Given the description of an element on the screen output the (x, y) to click on. 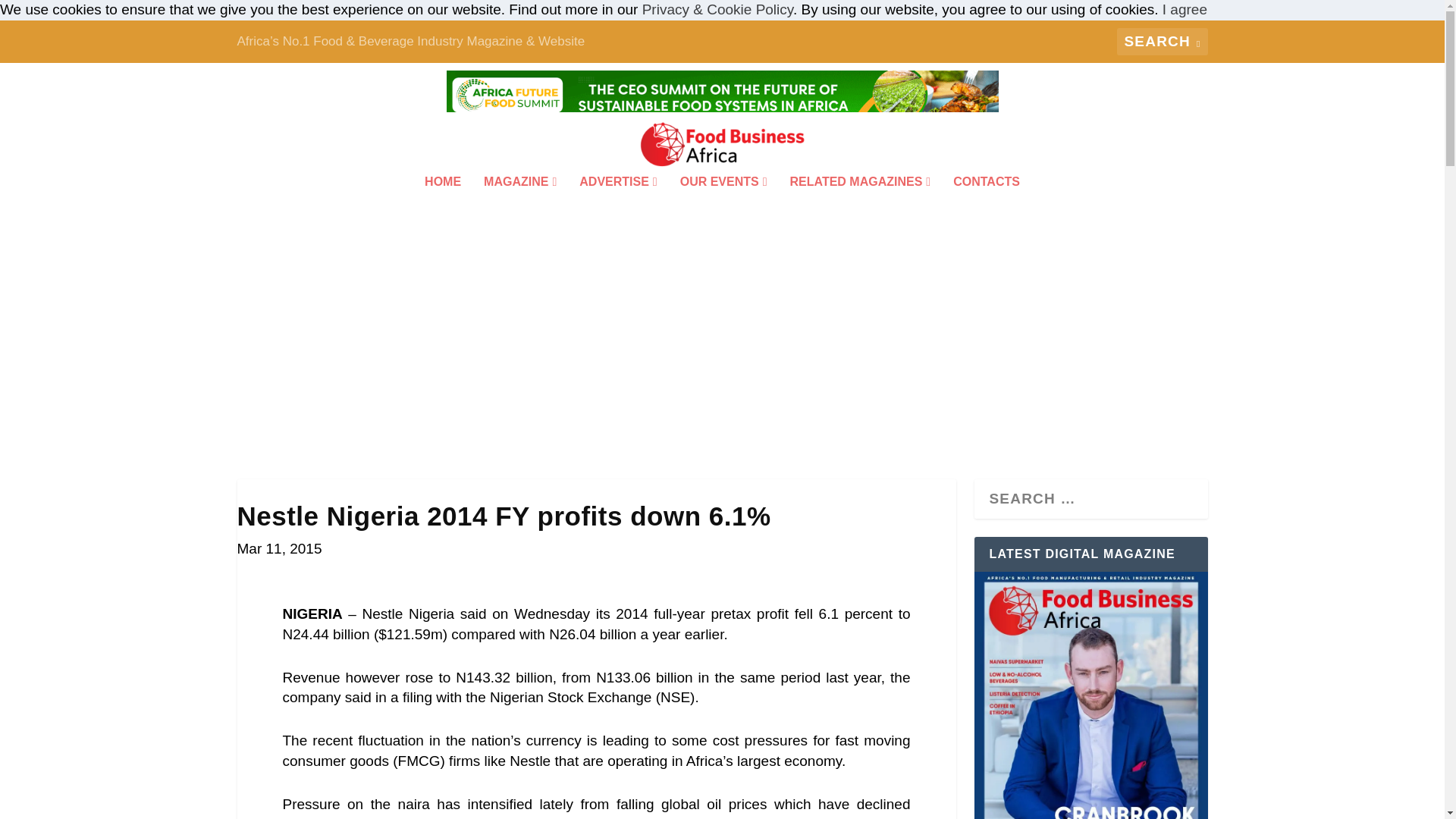
LATEST DIGITAL MAGAZINE (1090, 695)
Search for: (1161, 41)
ADVERTISE (617, 202)
RELATED MAGAZINES (860, 202)
OUR EVENTS (723, 202)
CONTACTS (986, 202)
MAGAZINE (519, 202)
I agree (1184, 9)
